Given the description of an element on the screen output the (x, y) to click on. 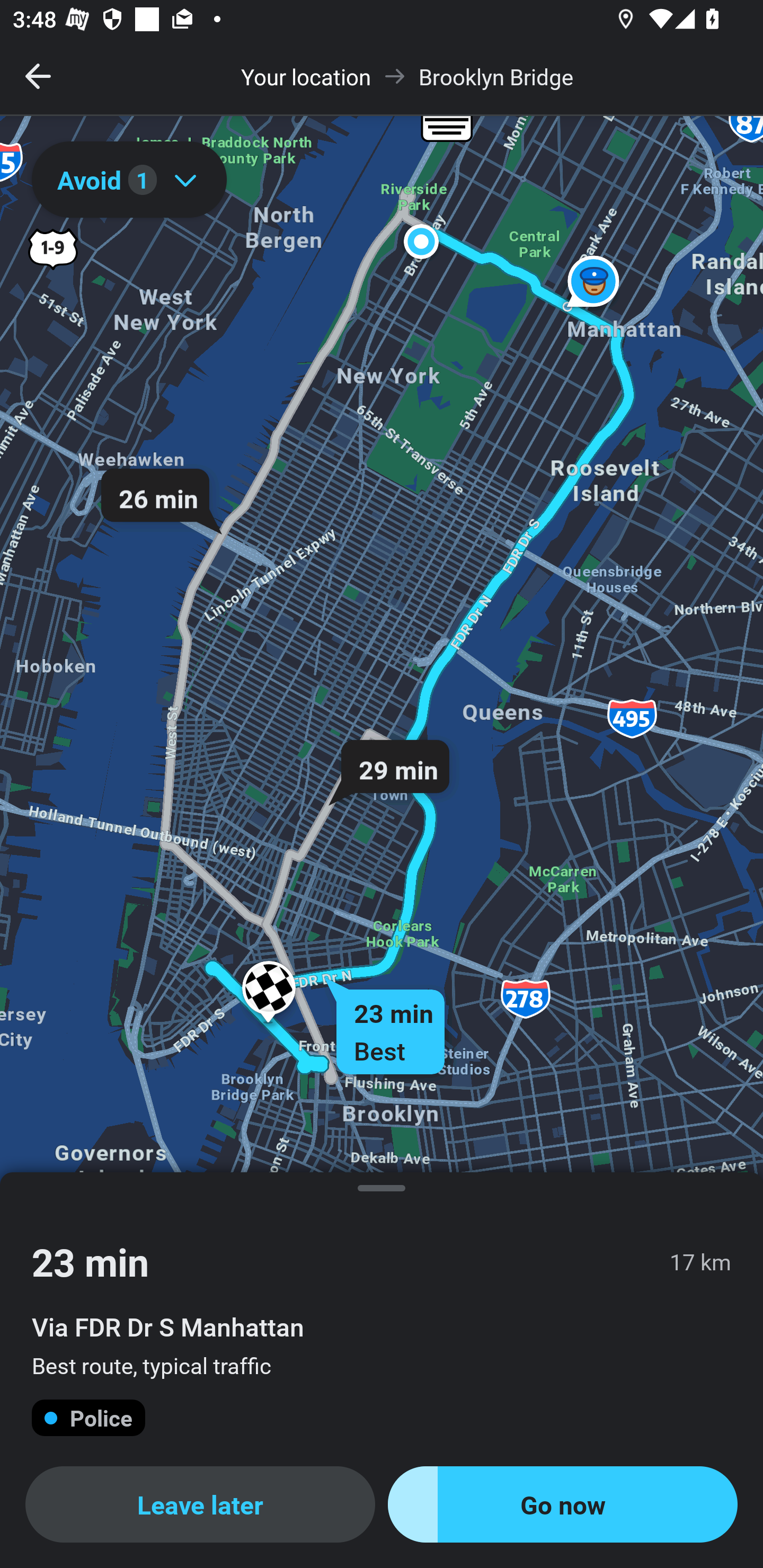
Leave later (200, 1504)
Go now (562, 1504)
